Given the description of an element on the screen output the (x, y) to click on. 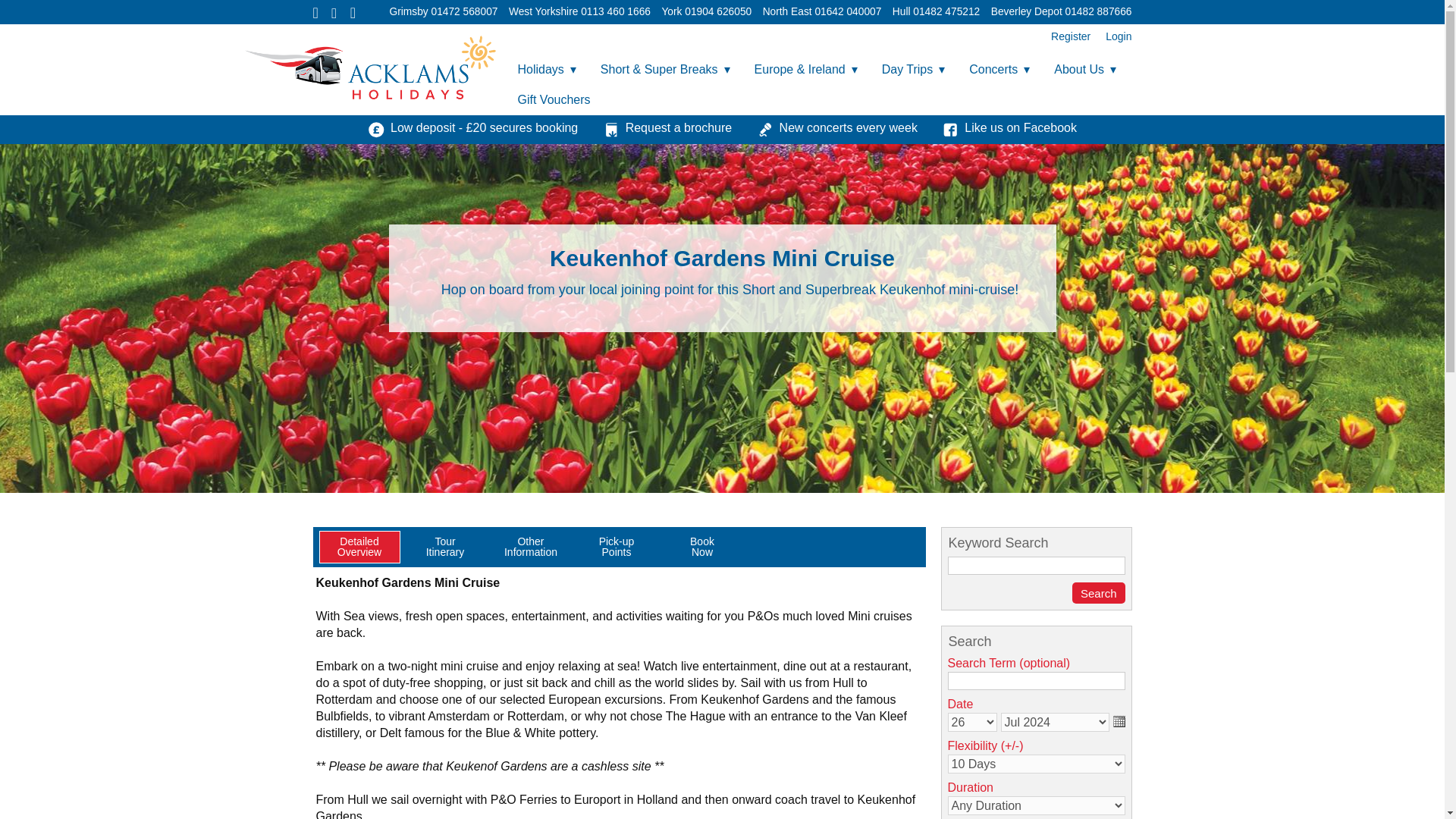
Request a brochure (667, 127)
Hull 01482 475212 (935, 11)
Register (1070, 36)
York 01904 626050 (706, 11)
Like us on Facebook (1009, 127)
New concerts every week (837, 127)
Holidays (546, 69)
Login (1114, 36)
West Yorkshire 0113 460 1666 (579, 11)
Search (1098, 592)
Grimsby 01472 568007 (443, 11)
North East 01642 040007 (822, 11)
Beverley Depot 01482 887666 (1061, 11)
